Given the description of an element on the screen output the (x, y) to click on. 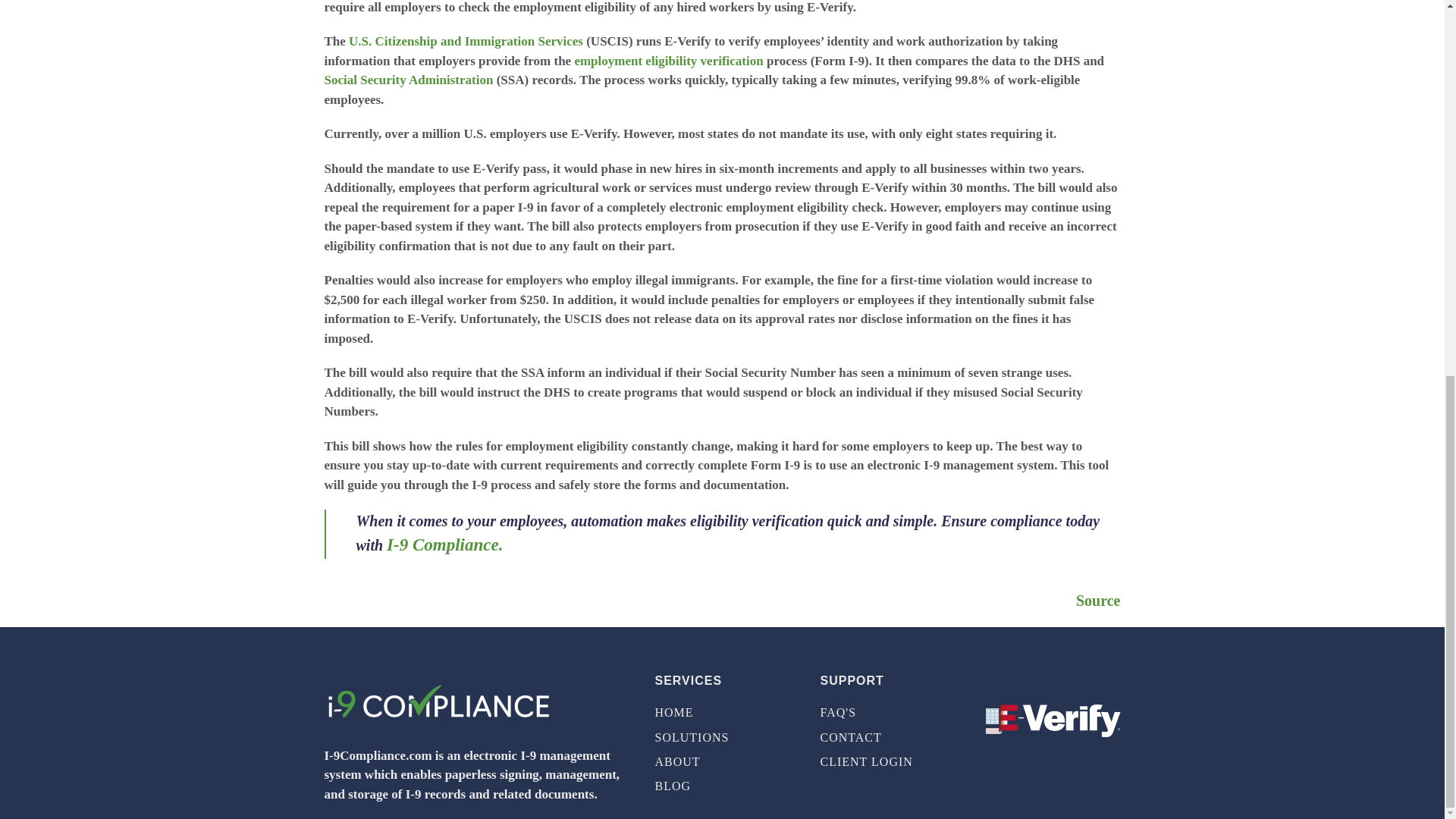
CONTACT (888, 737)
ABOUT (722, 761)
FAQ'S (888, 712)
Social Security Administration (408, 79)
Source (1098, 600)
CLIENT LOGIN (888, 761)
SOLUTIONS (722, 737)
HOME (722, 712)
employment eligibility verification (667, 60)
BLOG (722, 786)
U.S. Citizenship and Immigration Services (466, 41)
I-9 Compliance. (444, 544)
